Given the description of an element on the screen output the (x, y) to click on. 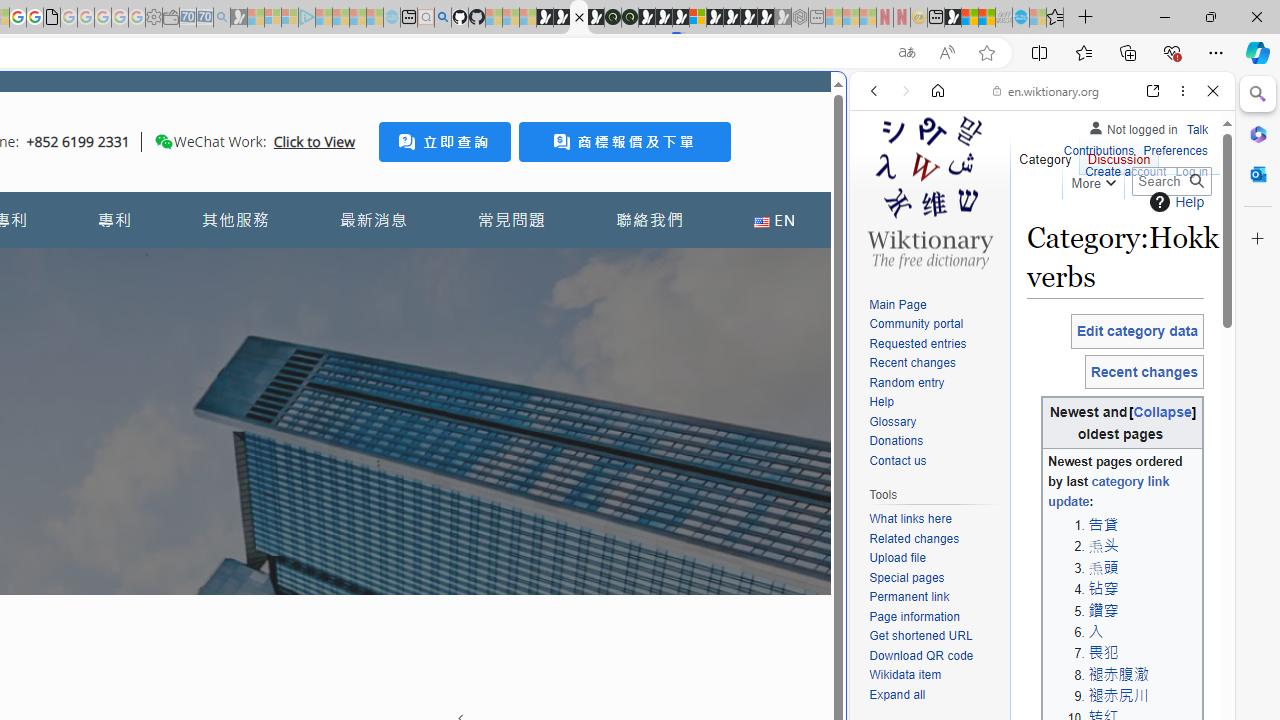
Random entry (934, 382)
Earth has six continents not seven, radical new study claims (986, 17)
Download QR code (921, 655)
Frequently visited (418, 265)
Create account (1125, 169)
Community portal (934, 324)
Services - Maintenance | Sky Blue Bikes - Sky Blue Bikes (1020, 17)
Random entry (906, 382)
